Given the description of an element on the screen output the (x, y) to click on. 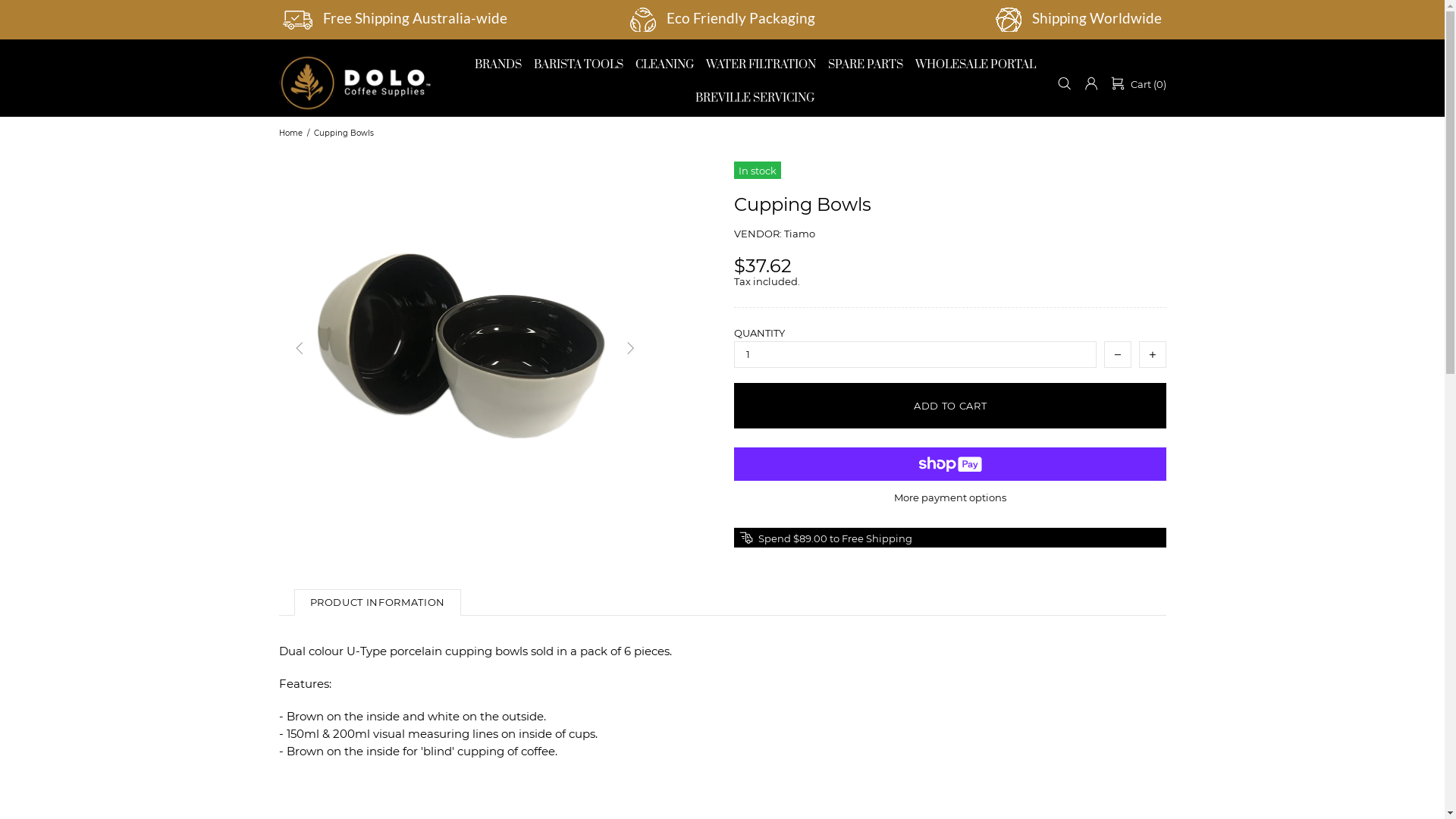
BRANDS Element type: text (497, 64)
Cart (0) Element type: text (1138, 83)
Home Element type: text (290, 133)
WHOLESALE PORTAL Element type: text (974, 64)
BARISTA TOOLS Element type: text (578, 64)
Dolo Cafe Supplies Element type: text (354, 83)
CLEANING Element type: text (664, 64)
ADD TO CART Element type: text (950, 405)
WATER FILTRATION Element type: text (760, 64)
BREVILLE SERVICING Element type: text (754, 97)
More payment options Element type: text (950, 497)
SPARE PARTS Element type: text (865, 64)
